Given the description of an element on the screen output the (x, y) to click on. 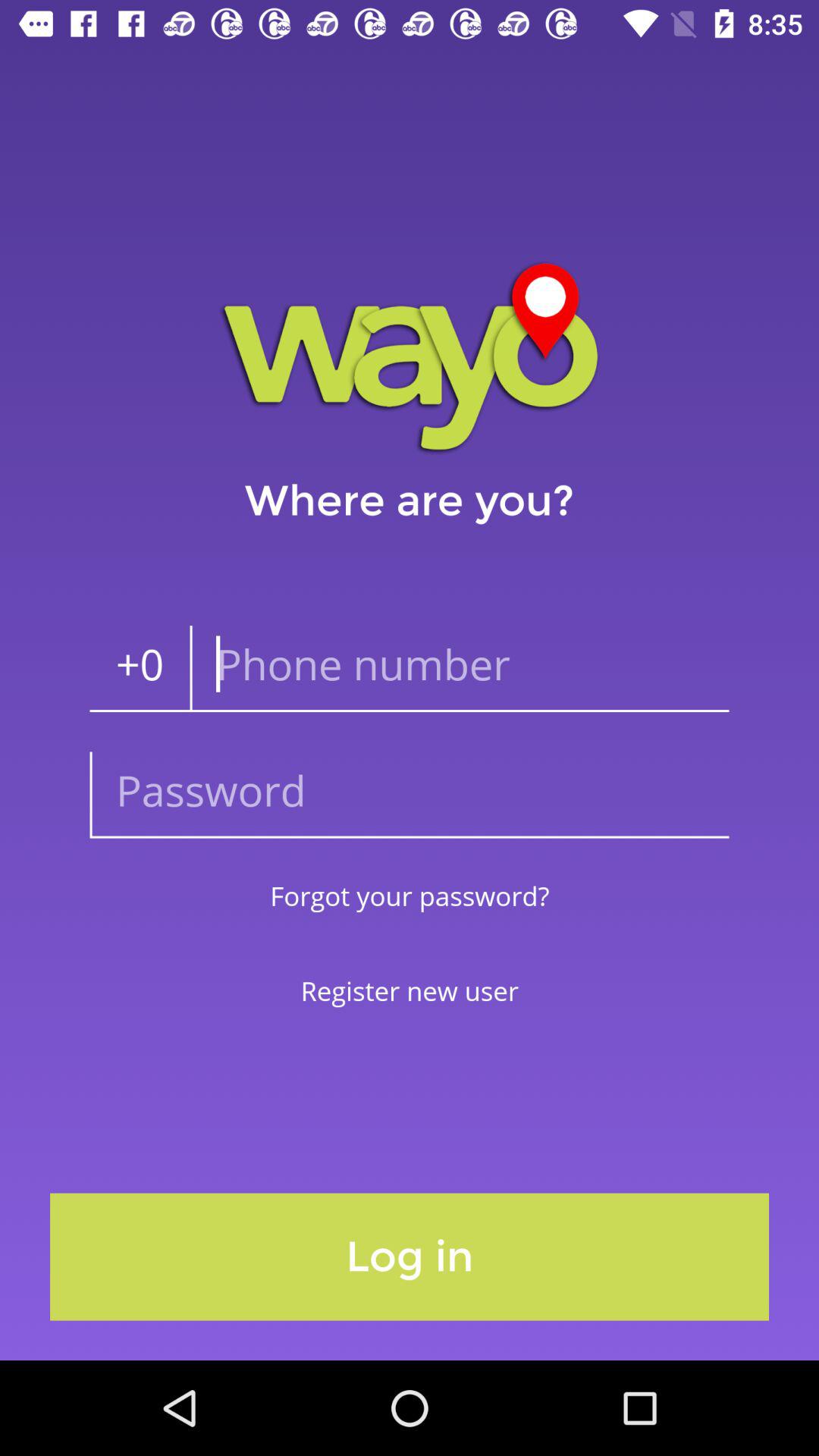
tap +0 on the left (139, 668)
